Given the description of an element on the screen output the (x, y) to click on. 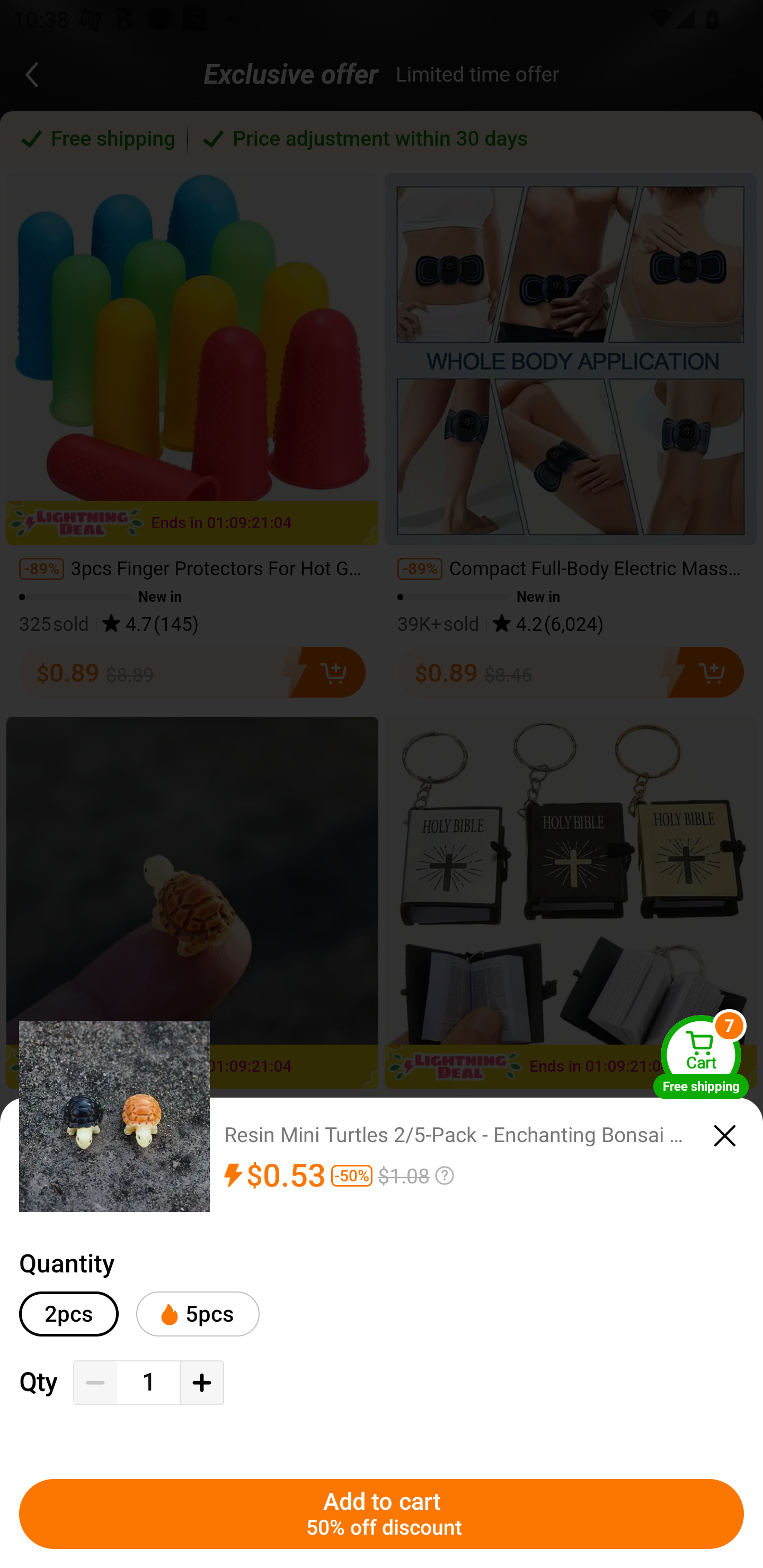
Cart Free shipping Cart (701, 1056)
close (724, 1135)
 2pcs (69, 1313)
 5pcs (197, 1313)
Decrease Quantity Button (95, 1382)
Add Quantity Button (201, 1382)
1 (148, 1382)
Add to cart  50% off discount (381, 1513)
